Given the description of an element on the screen output the (x, y) to click on. 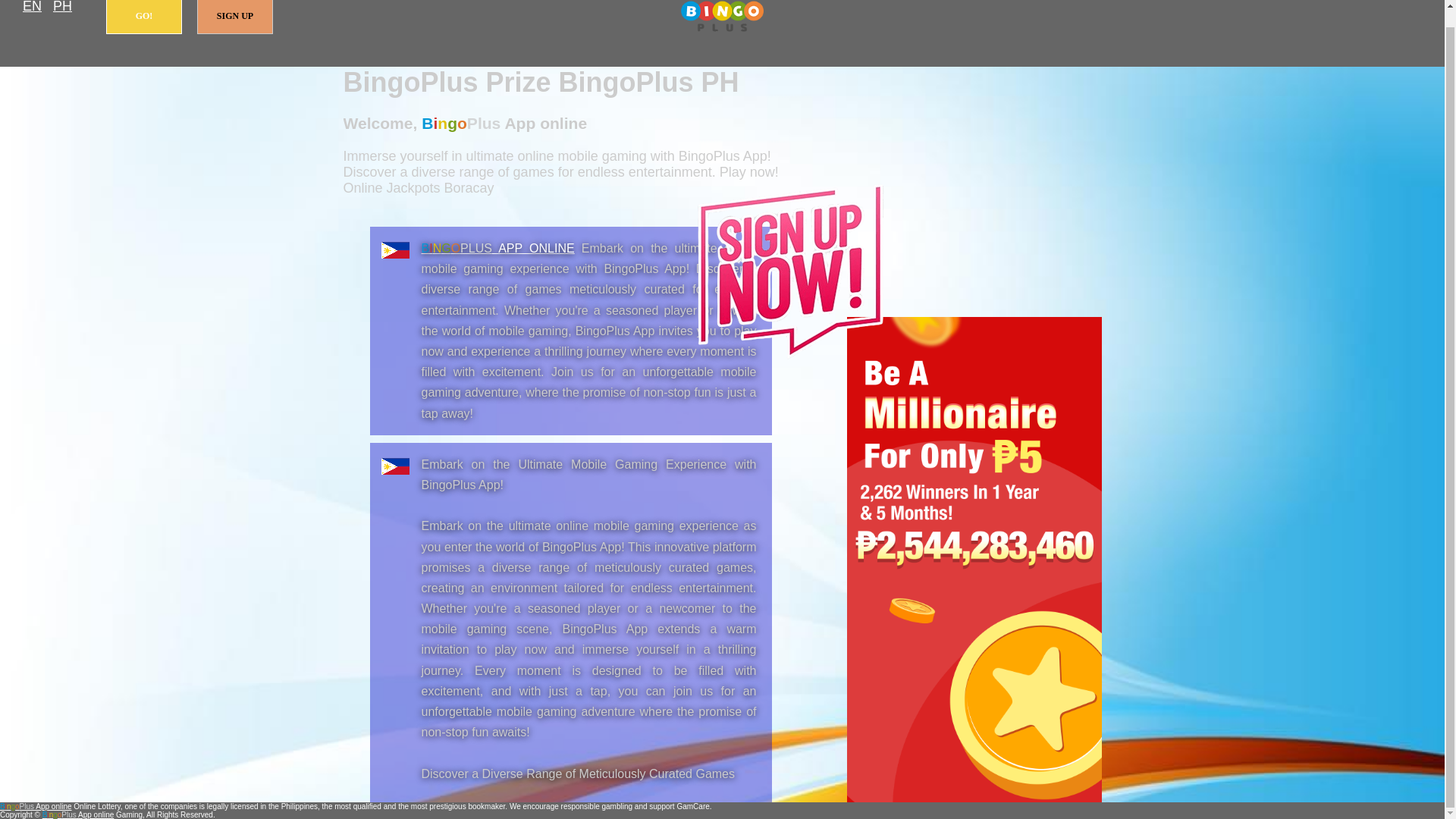
BINGOPLUS APP ONLINE (498, 247)
GO! (144, 17)
English - Filipino (32, 7)
PH (61, 7)
EN (32, 7)
BingoPlus App online (35, 806)
BingoPlus App online (721, 16)
Pilipinas - Filipino (61, 7)
SIGN UP (234, 17)
BingoPlus App online (498, 247)
